Given the description of an element on the screen output the (x, y) to click on. 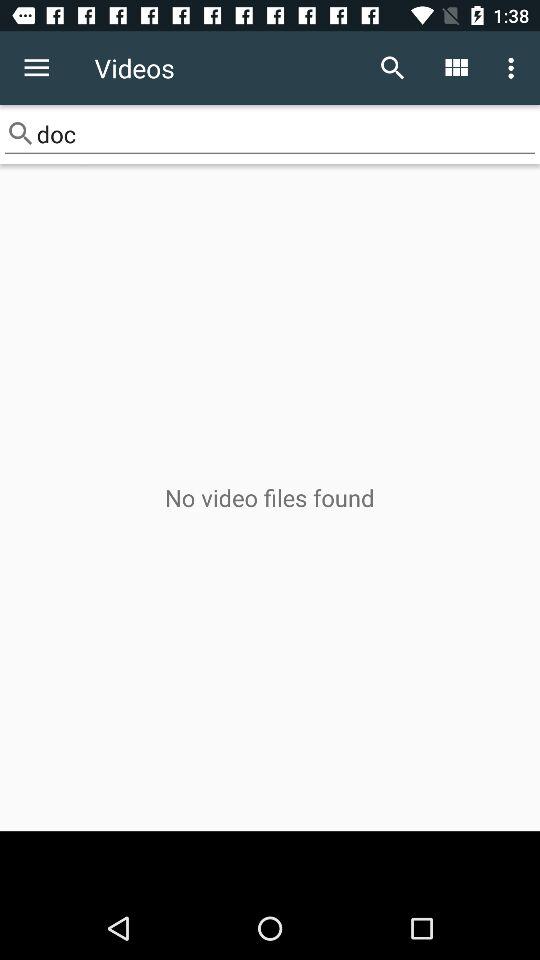
choose the icon above the doc item (36, 68)
